Given the description of an element on the screen output the (x, y) to click on. 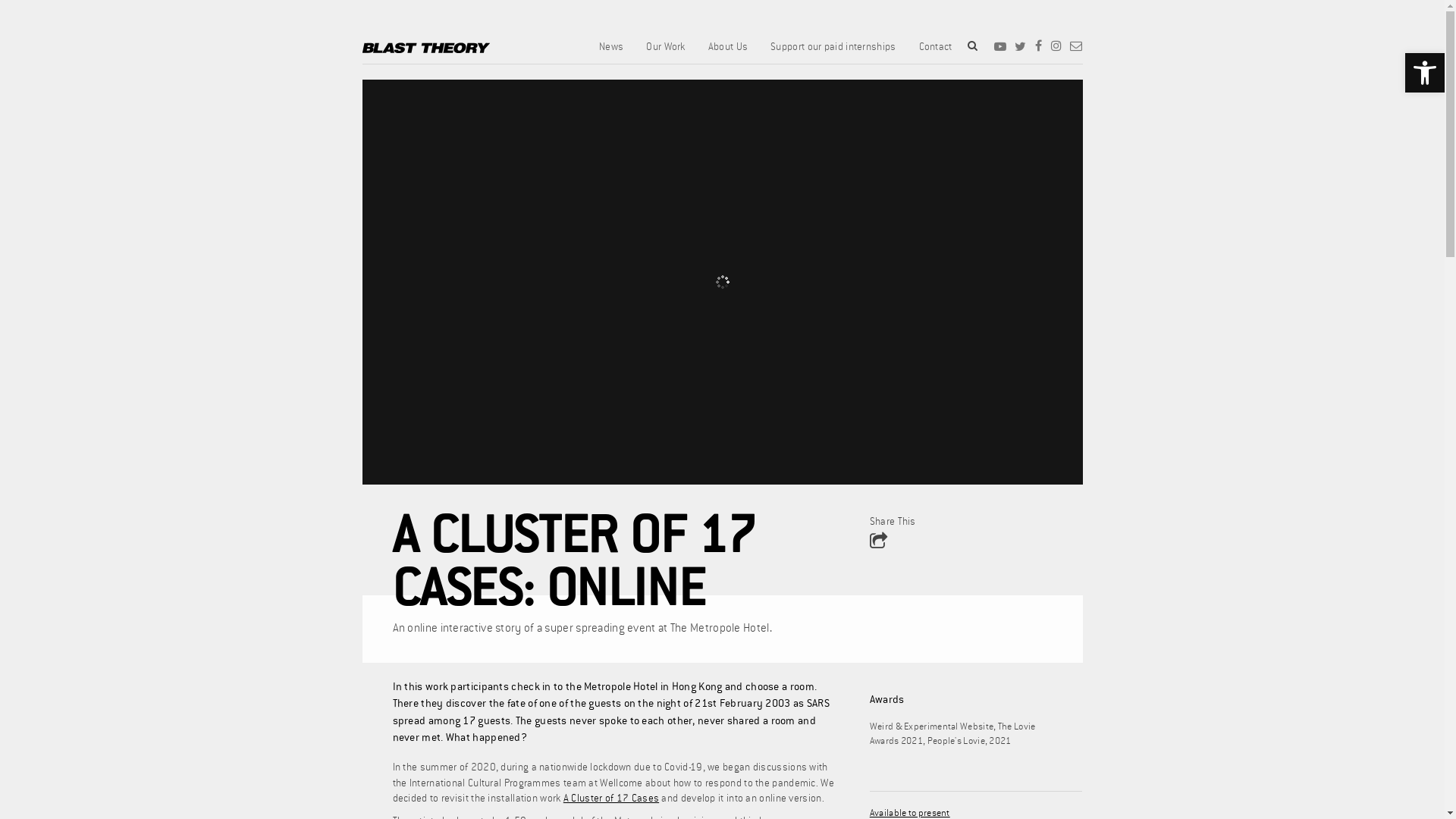
About Us Element type: text (727, 52)
Share Element type: hover (878, 541)
Facebook Element type: hover (1038, 45)
Support our paid internships Element type: text (832, 52)
Our Work Element type: text (665, 52)
Open toolbar
Accessibility Tools Element type: text (1424, 72)
News Element type: text (611, 52)
Contact Element type: text (935, 52)
A Cluster of 17 Cases Element type: text (610, 798)
Join our mailing list Element type: hover (1076, 45)
YouTube Element type: hover (1000, 46)
Instagram Element type: hover (1056, 45)
Twitter Element type: hover (1020, 46)
